Given the description of an element on the screen output the (x, y) to click on. 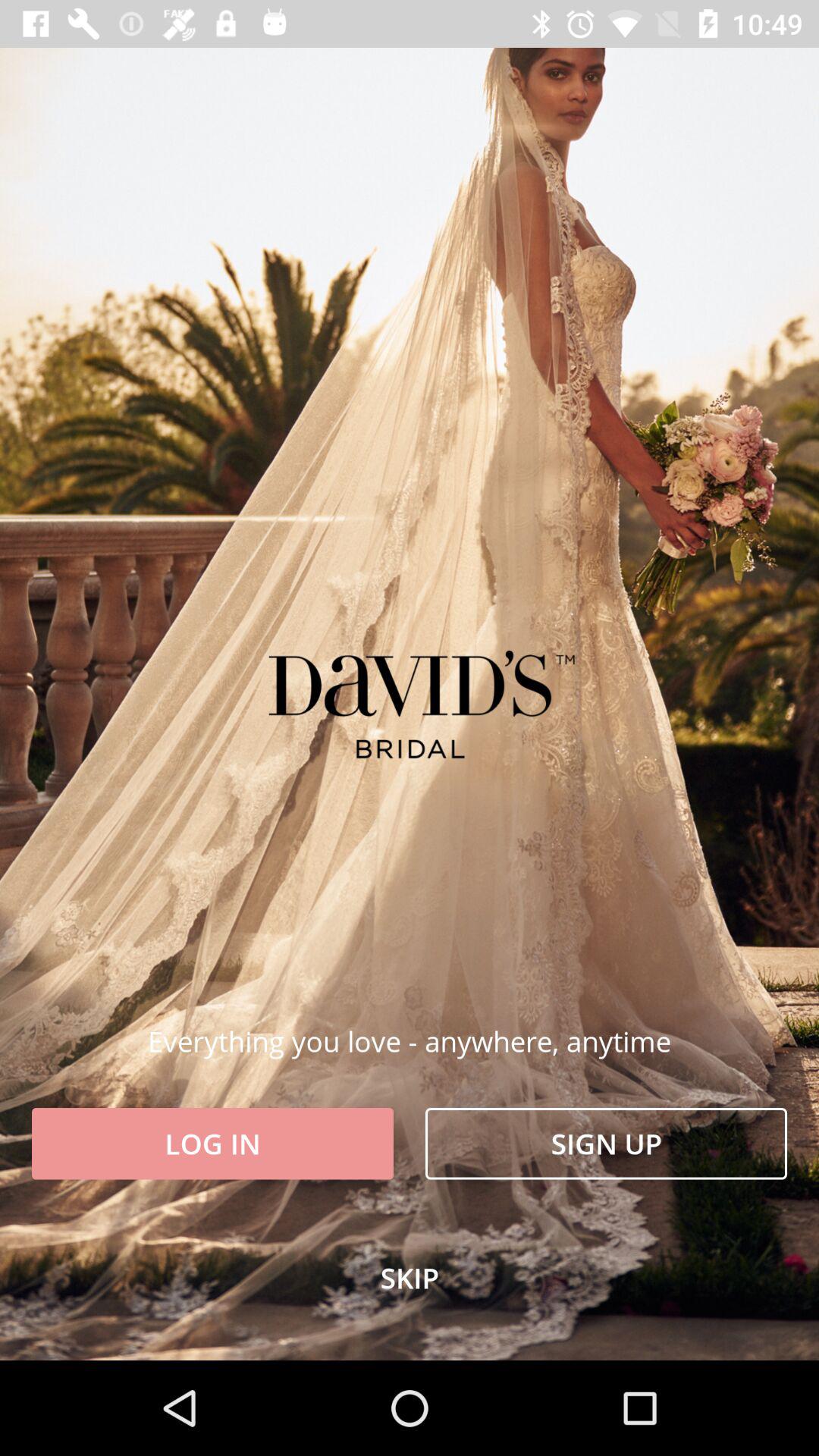
press the skip item (409, 1277)
